Given the description of an element on the screen output the (x, y) to click on. 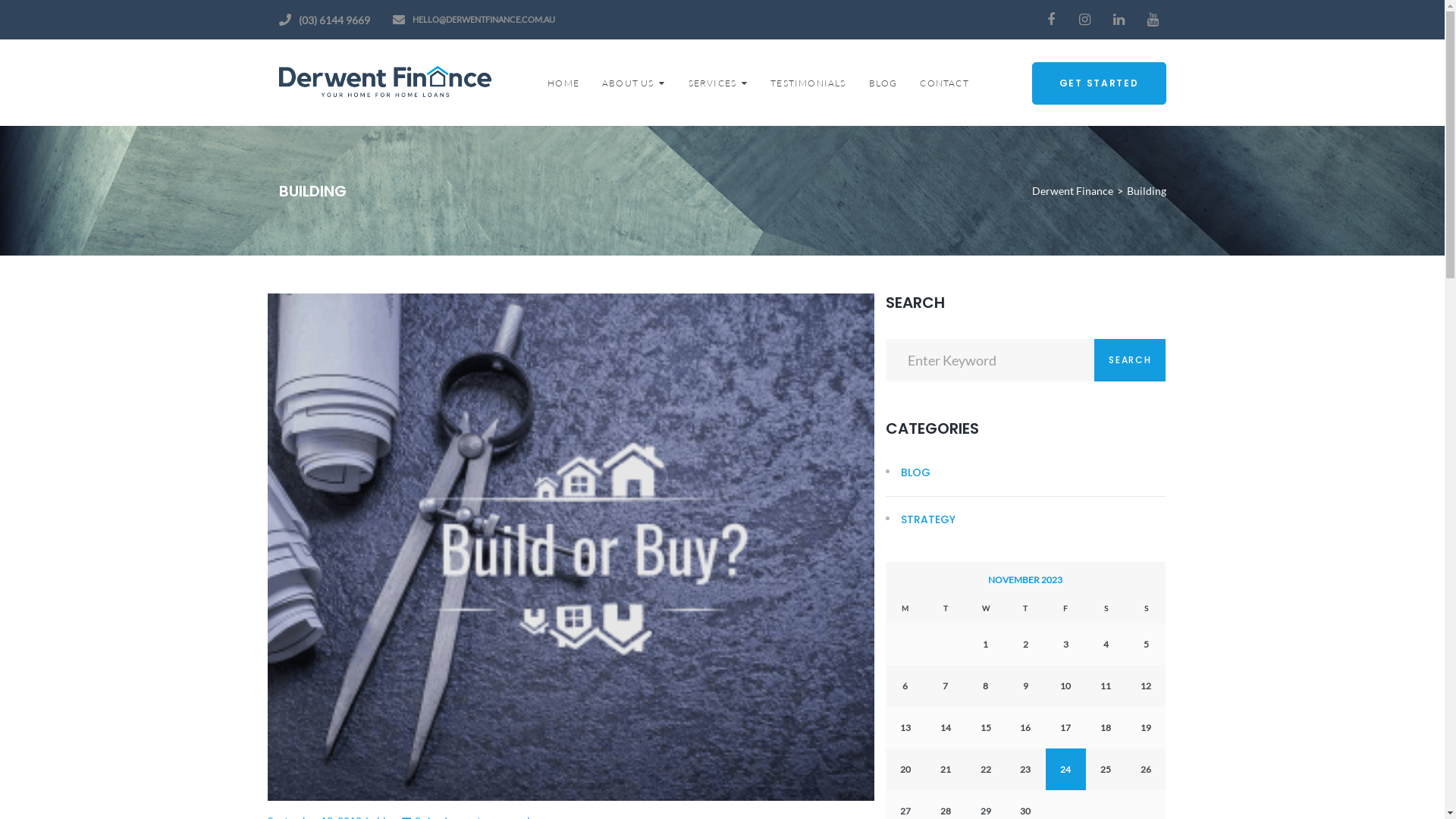
(03) 6144 9669 Element type: text (334, 20)
CONTACT Element type: text (943, 83)
HELLO@DERWENTFINANCE.COM.AU Element type: text (483, 19)
GET STARTED Element type: text (1099, 83)
SEARCH Element type: text (1129, 359)
ABOUT US Element type: text (633, 83)
SERVICES Element type: text (718, 83)
Derwent Finance Element type: text (1071, 190)
TESTIMONIALS Element type: text (807, 83)
HOME Element type: text (563, 83)
BLOG Element type: text (883, 83)
STRATEGY Element type: text (920, 519)
BLOG Element type: text (907, 472)
Search for: Element type: hover (990, 359)
